Given the description of an element on the screen output the (x, y) to click on. 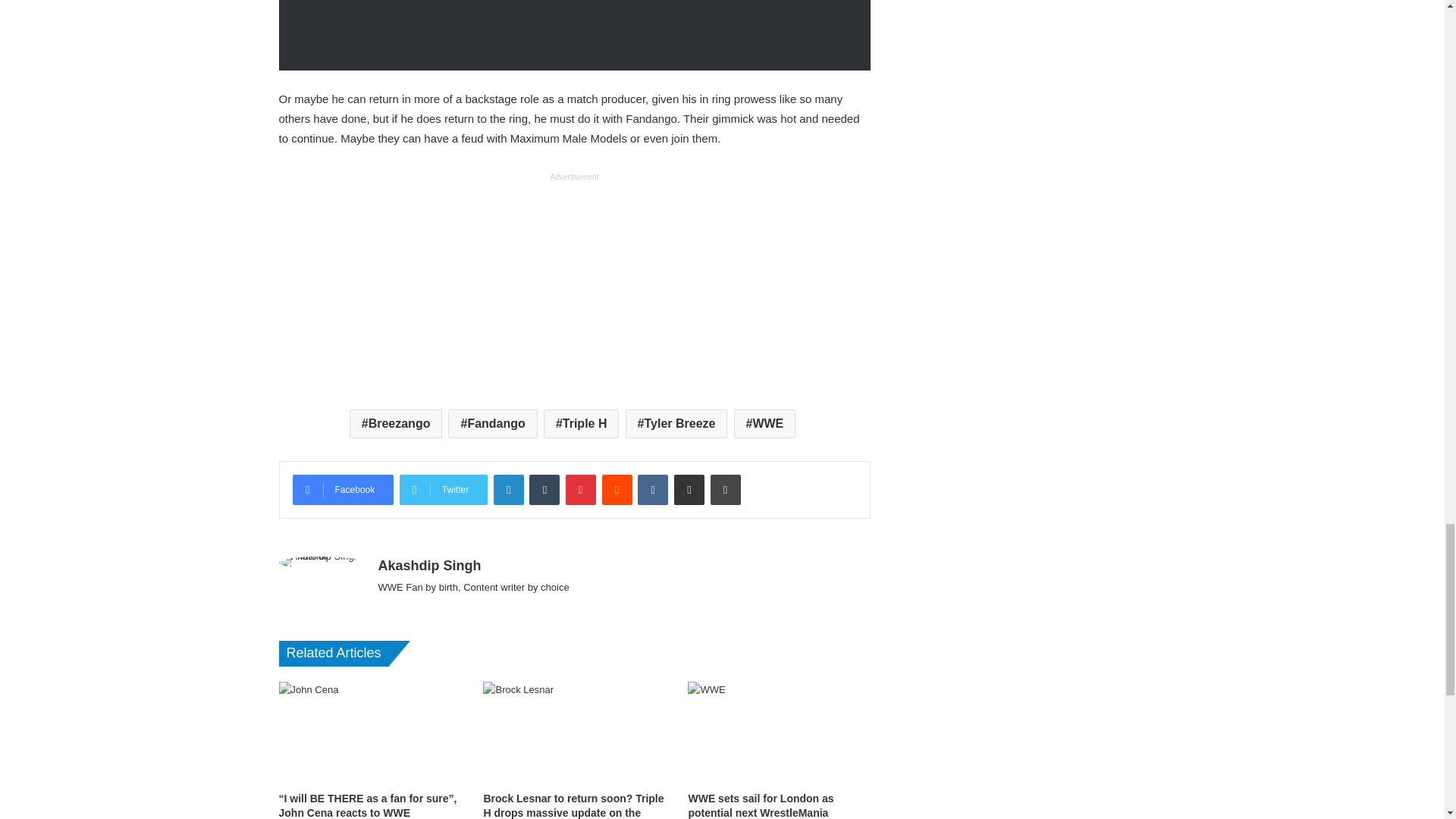
Pinterest (580, 490)
Reddit (616, 490)
Facebook (343, 490)
VKontakte (652, 490)
Twitter (442, 490)
LinkedIn (508, 490)
Breezango (395, 423)
Tumblr (544, 490)
Share via Email (689, 490)
